Given the description of an element on the screen output the (x, y) to click on. 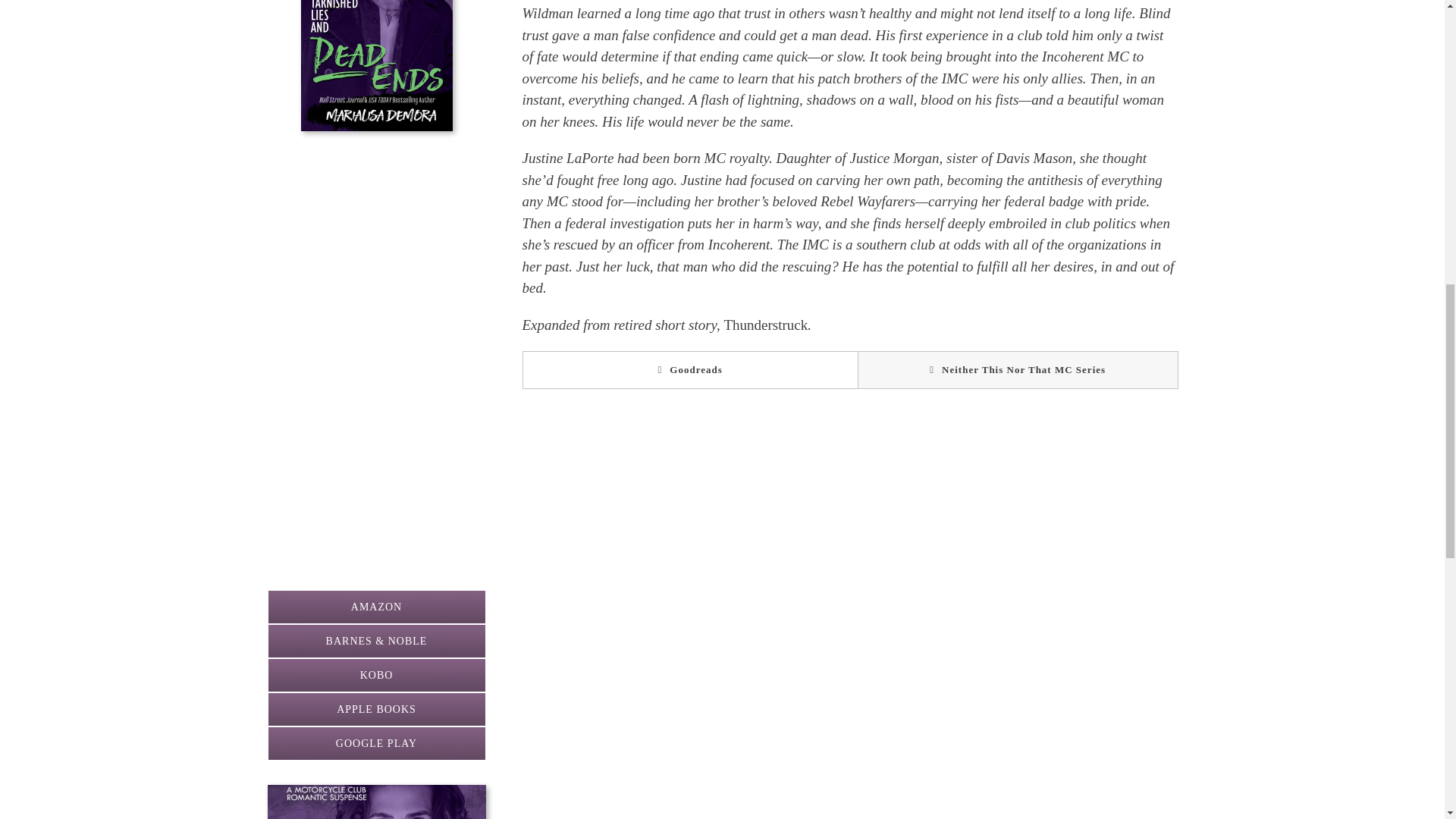
KOBO (375, 675)
APPLE BOOKS (375, 709)
Neither This Nor That MC Series (1017, 370)
GOOGLE PLAY (375, 743)
Goodreads (689, 370)
AMAZON (375, 606)
